Given the description of an element on the screen output the (x, y) to click on. 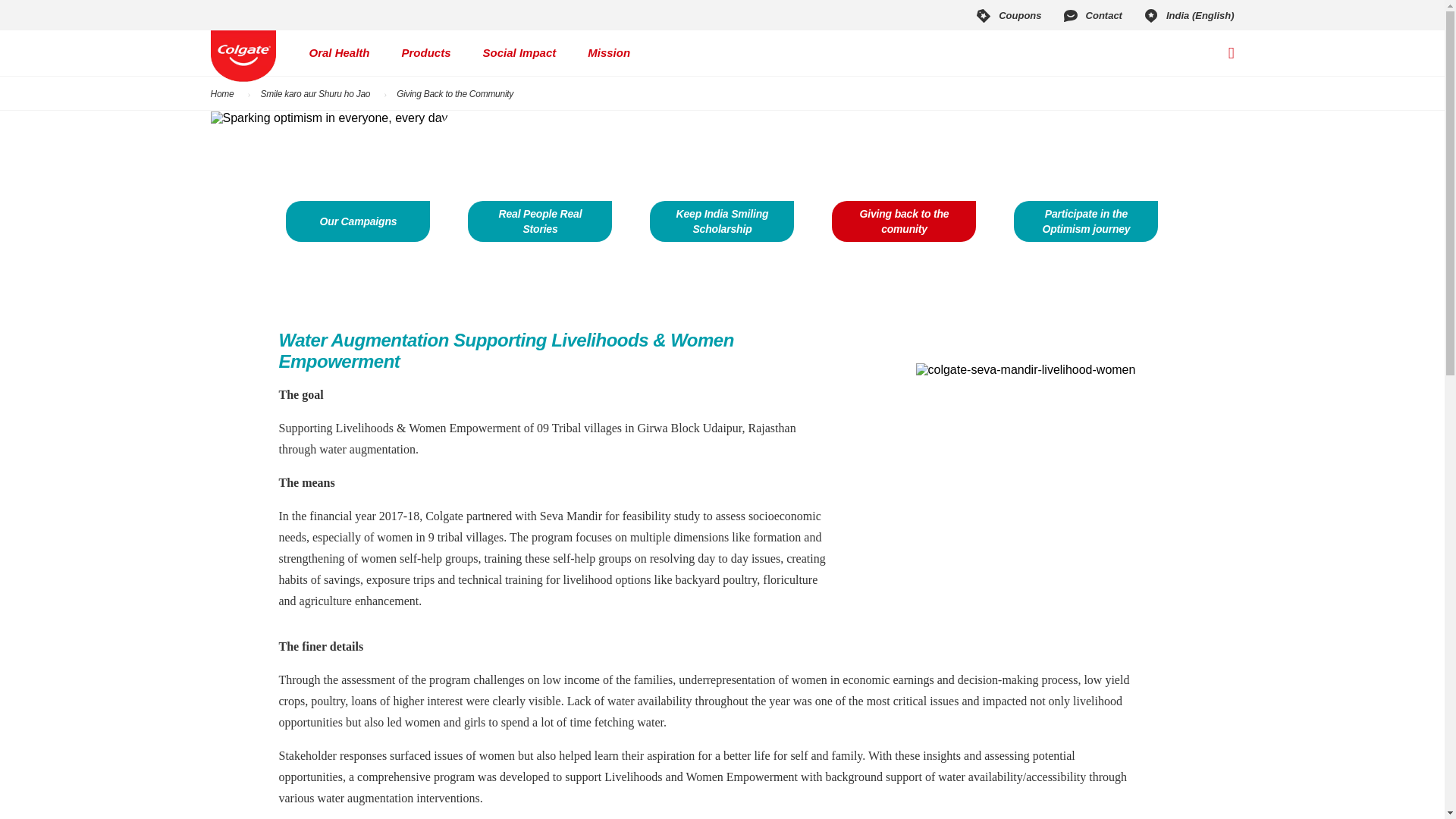
colgate-seva-mandir-livelihood-women (1025, 369)
Oral Health (338, 52)
Coupons (1007, 14)
home (243, 55)
Social Impact (519, 52)
Sparking optimism in everyone, every day (329, 118)
Mission (609, 52)
Contact (1091, 14)
Products (426, 52)
